Given the description of an element on the screen output the (x, y) to click on. 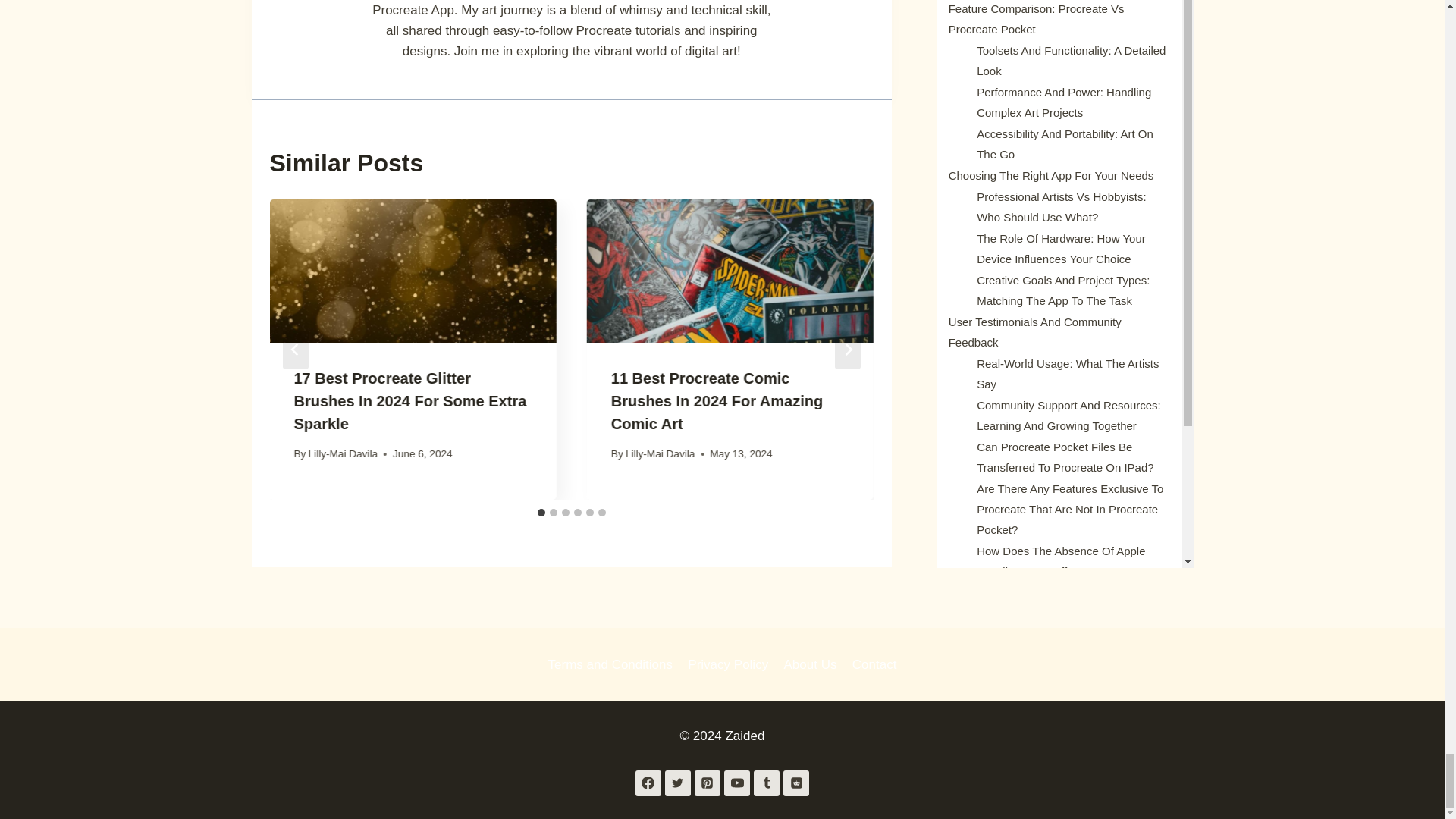
Procreate Glitter Brush (412, 271)
Procreate Comic Brushes (729, 271)
